Given the description of an element on the screen output the (x, y) to click on. 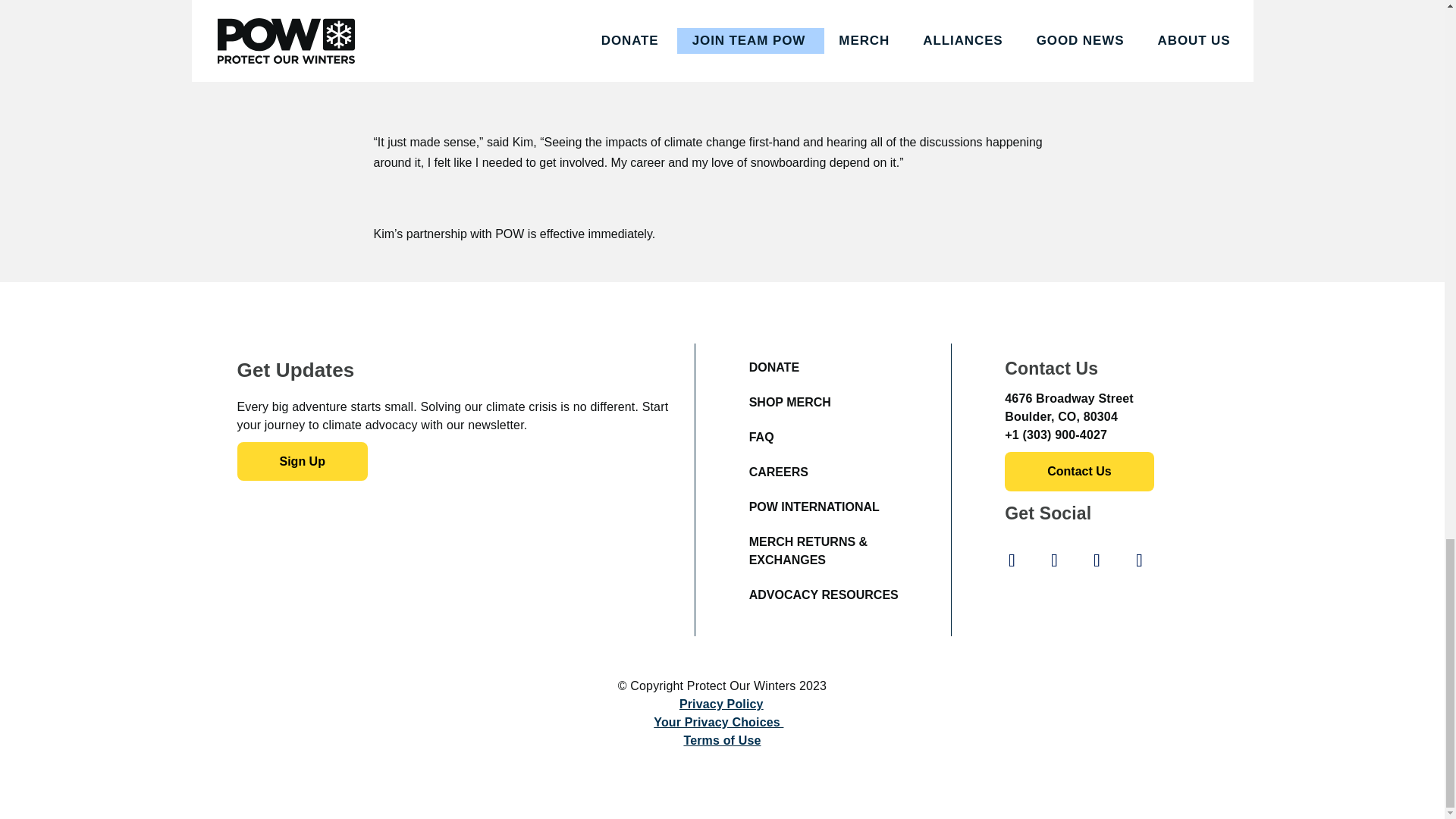
Follow on X (1096, 560)
Follow on Facebook (1010, 560)
Follow on Instagram (1053, 560)
Follow on LinkedIn (1139, 560)
POW-logo (301, 699)
